Given the description of an element on the screen output the (x, y) to click on. 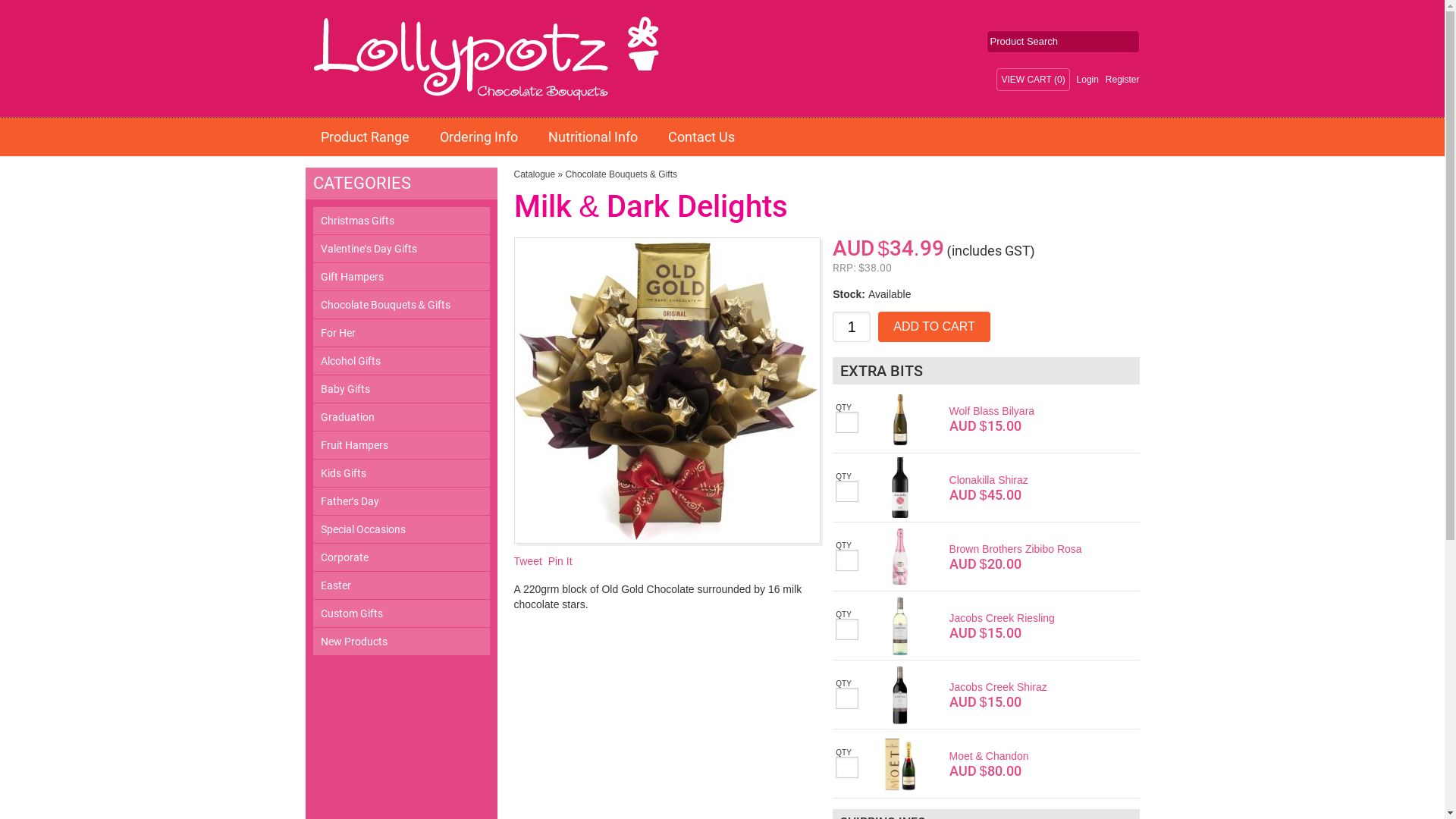
Baby Gifts Element type: text (400, 388)
ADD TO CART Element type: text (934, 326)
Lollypotz Element type: hover (387, 58)
Brown Brothers Zibibo Rosa
AUD $20.00 Element type: text (1025, 556)
Graduation Element type: text (400, 416)
Moet & Chandon
AUD $80.00 Element type: text (1025, 763)
Jacobs Creek Shiraz
AUD $15.00 Element type: text (1025, 694)
Chocolate Bouquets & Gifts Element type: text (621, 174)
Clonakilla Shiraz
AUD $45.00 Element type: text (1025, 487)
Tweet Element type: text (528, 561)
Chocolate Bouquets & Gifts Element type: text (400, 304)
Register Element type: text (1122, 79)
Father's Day Element type: text (400, 500)
New Products Element type: text (400, 641)
Christmas Gifts Element type: text (400, 220)
Gift Hampers Element type: text (400, 276)
Alcohol Gifts Element type: text (400, 360)
Nutritional Info Element type: text (592, 137)
Kids Gifts Element type: text (400, 472)
VIEW CART (0) Element type: text (1032, 79)
Login Element type: text (1087, 79)
For Her Element type: text (400, 332)
Fruit Hampers Element type: text (400, 444)
Corporate Element type: text (400, 557)
Jacobs Creek Riesling
AUD $15.00 Element type: text (1025, 625)
Custom Gifts Element type: text (400, 613)
Wolf Blass Bilyara
AUD $15.00 Element type: text (1025, 418)
Product Range Element type: text (363, 137)
Ordering Info Element type: text (478, 137)
Valentine's Day Gifts Element type: text (400, 248)
Pin It Element type: text (560, 561)
Contact Us Element type: text (700, 137)
Catalogue Element type: text (534, 174)
Easter Element type: text (400, 585)
Special Occasions Element type: text (400, 528)
